Given the description of an element on the screen output the (x, y) to click on. 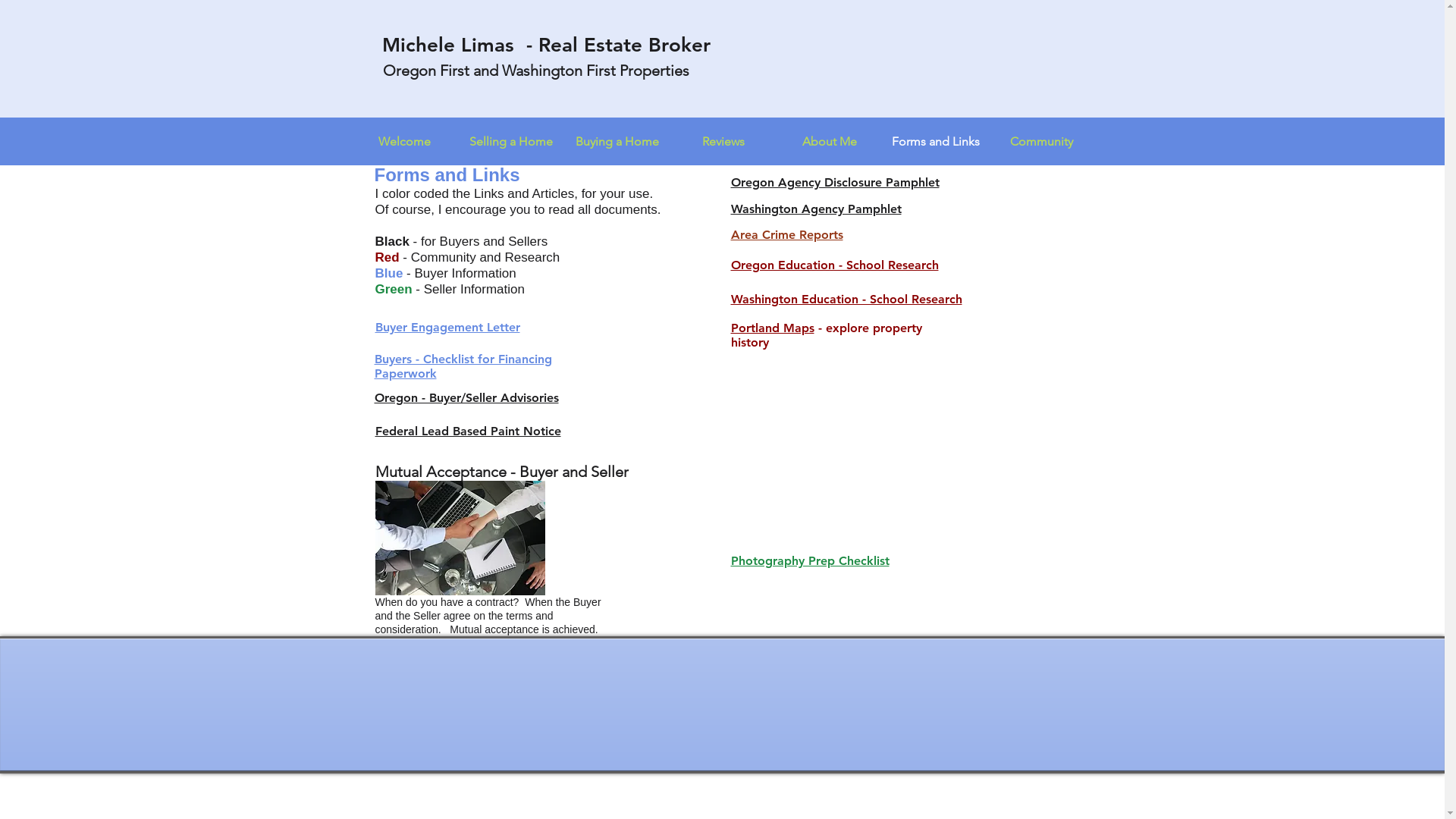
Photography Prep Checklist Element type: text (810, 560)
Welcome Element type: text (404, 141)
WEB-STAT Element type: hover (1016, 675)
Forms and Links Element type: text (935, 141)
Oregon Education - School Research Element type: text (834, 264)
About Me Element type: text (829, 141)
Washington Education - School Research Element type: text (846, 298)
Buyer Engagement Letter Element type: text (446, 327)
Reviews Element type: text (723, 141)
Buying a Home Element type: text (617, 141)
Selling a Home Element type: text (511, 141)
Federal Lead Based Paint Notice Element type: text (467, 430)
Community Element type: text (1041, 141)
Washington Agency Pamphlet Element type: text (816, 208)
Oregon Agency Disclosure Pamphlet Element type: text (835, 182)
Portland Maps Element type: text (772, 327)
Oregon First and Washington First Properties Element type: text (535, 70)
no Element type: hover (459, 537)
Michele Limas  - Real Estate Broker Element type: text (546, 44)
Area Crime Reports Element type: text (787, 234)
Oregon - Buyer/Seller Advisories Element type: text (466, 397)
Buyers - Checklist for Financing Paperwork Element type: text (463, 365)
